Given the description of an element on the screen output the (x, y) to click on. 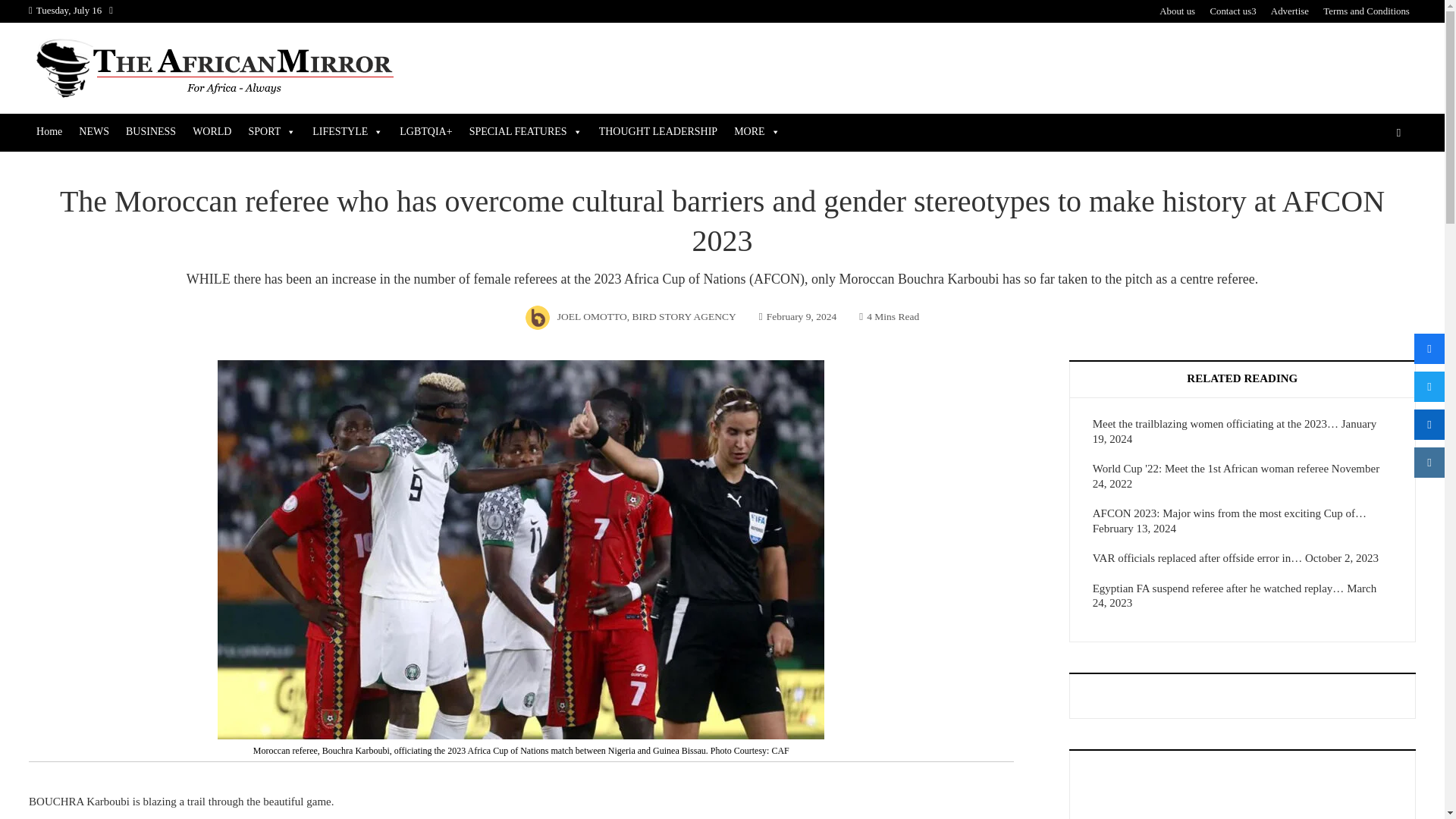
About us (1176, 11)
Home (49, 132)
Terms and Conditions (1366, 11)
SPECIAL FEATURES (525, 132)
WORLD (211, 132)
BUSINESS (150, 132)
Advertise (1289, 11)
Contact us (1232, 11)
LIFESTYLE (347, 132)
THOUGHT LEADERSHIP (658, 132)
MORE (756, 132)
SPORT (271, 132)
NEWS (93, 132)
